Given the description of an element on the screen output the (x, y) to click on. 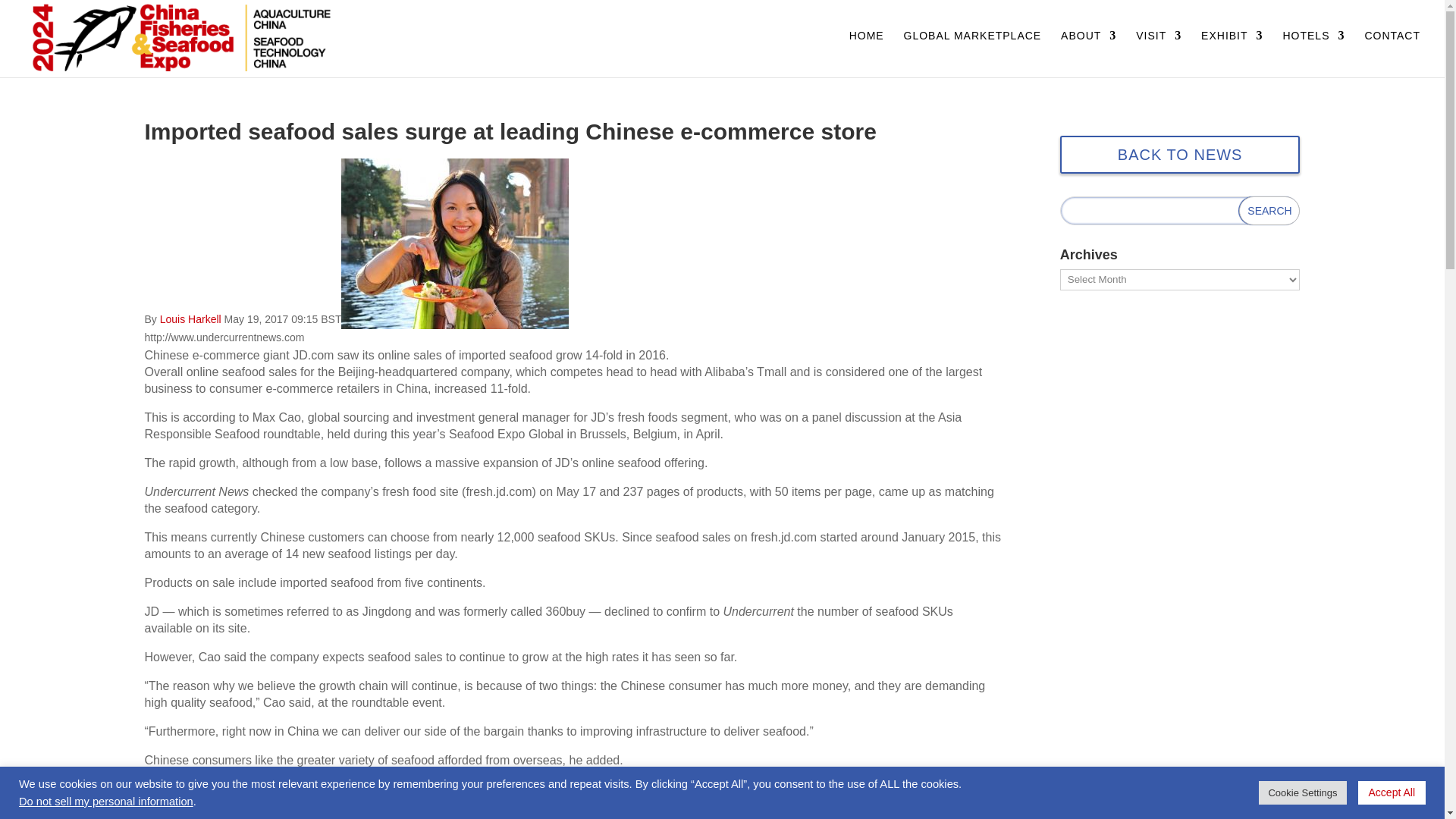
ABOUT (1088, 50)
EXHIBIT (1231, 50)
GLOBAL MARKETPLACE (973, 50)
Posts by Louis Harkell (190, 318)
VISIT (1157, 50)
Search (1269, 210)
CONTACT (1392, 50)
HOTELS (1312, 50)
